Given the description of an element on the screen output the (x, y) to click on. 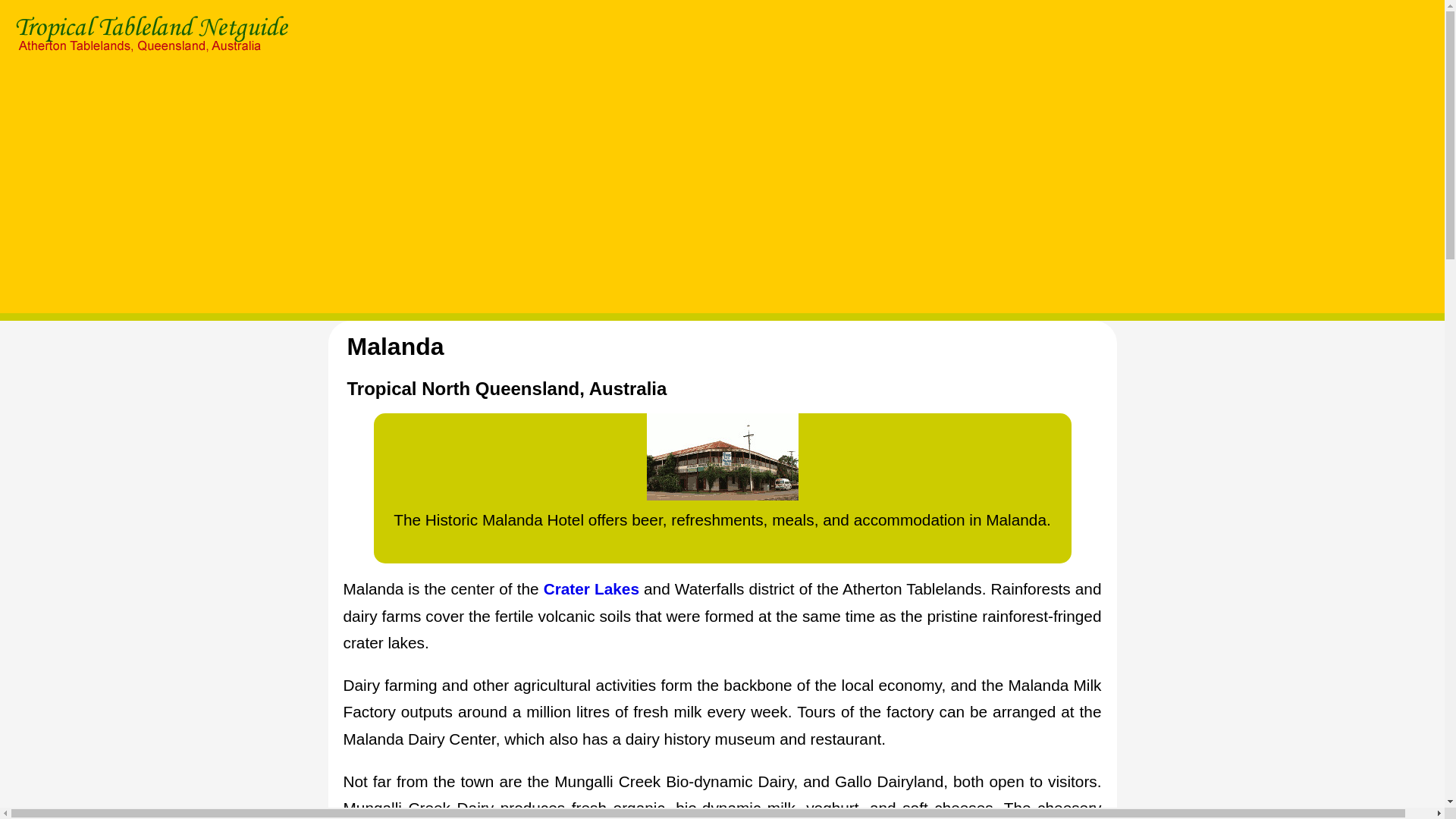
Crater Lakes (591, 588)
